Given the description of an element on the screen output the (x, y) to click on. 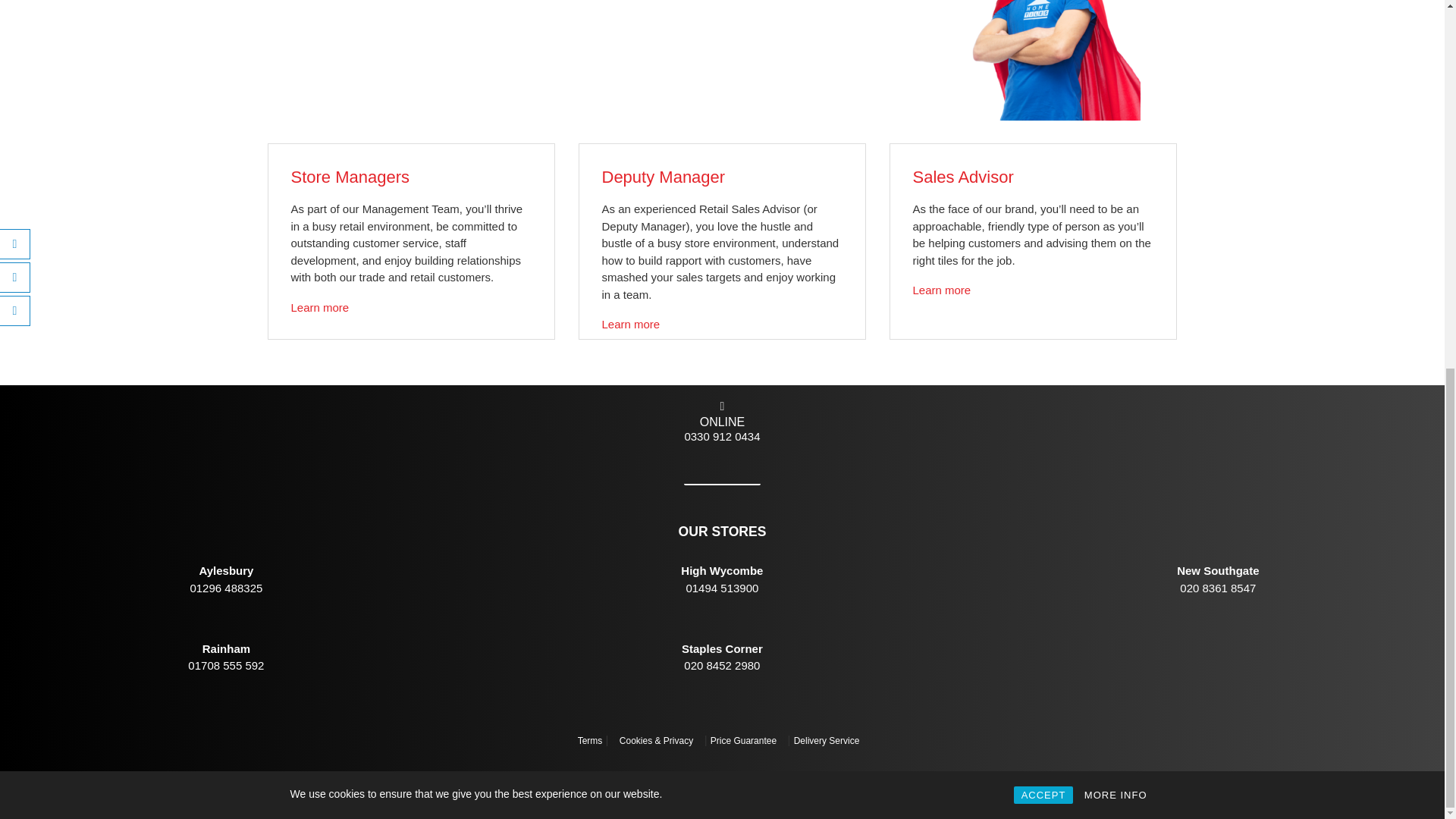
ACCEPT (1043, 129)
MORE INFO (1115, 129)
